Given the description of an element on the screen output the (x, y) to click on. 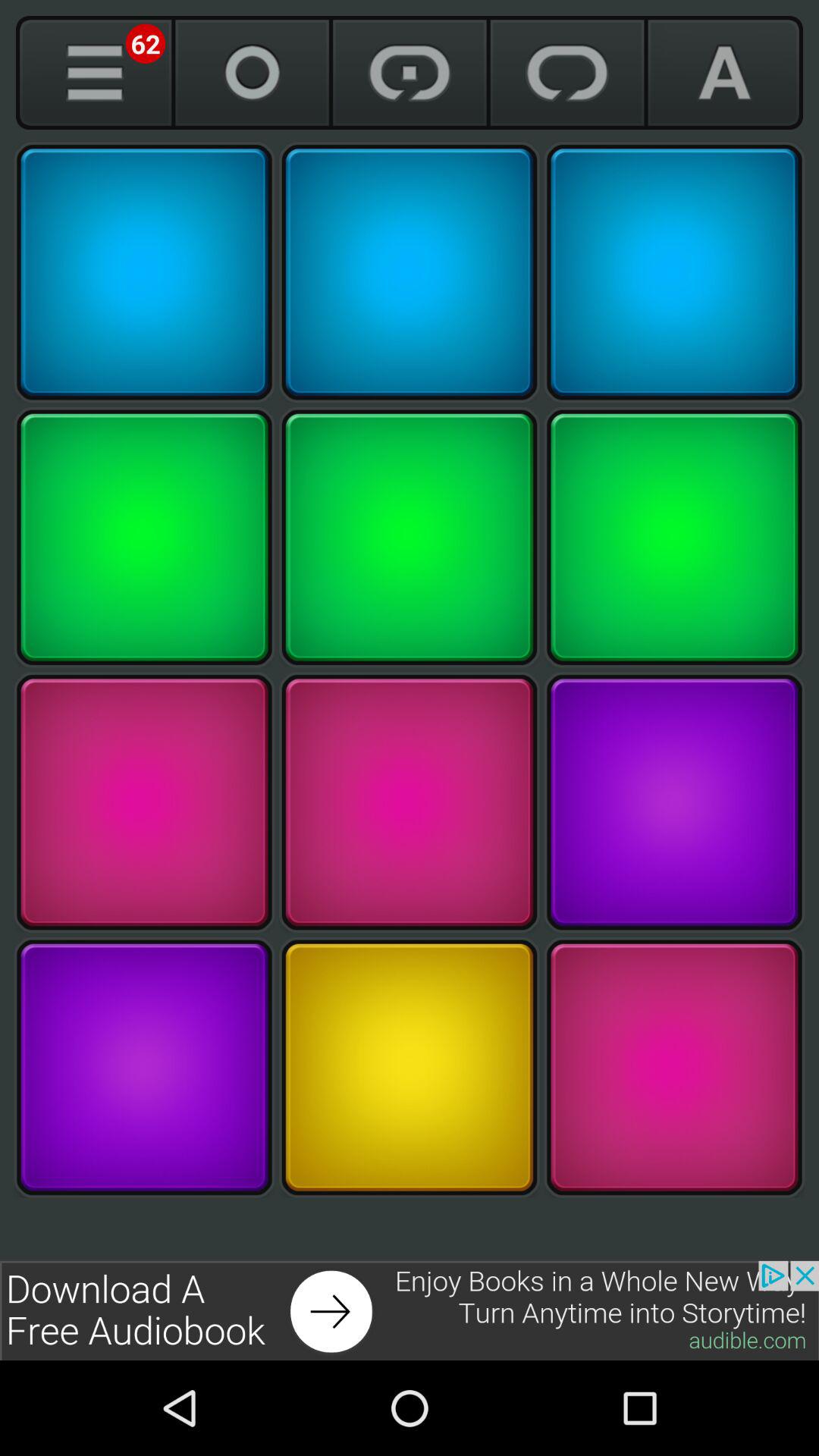
click game tile (409, 1067)
